Given the description of an element on the screen output the (x, y) to click on. 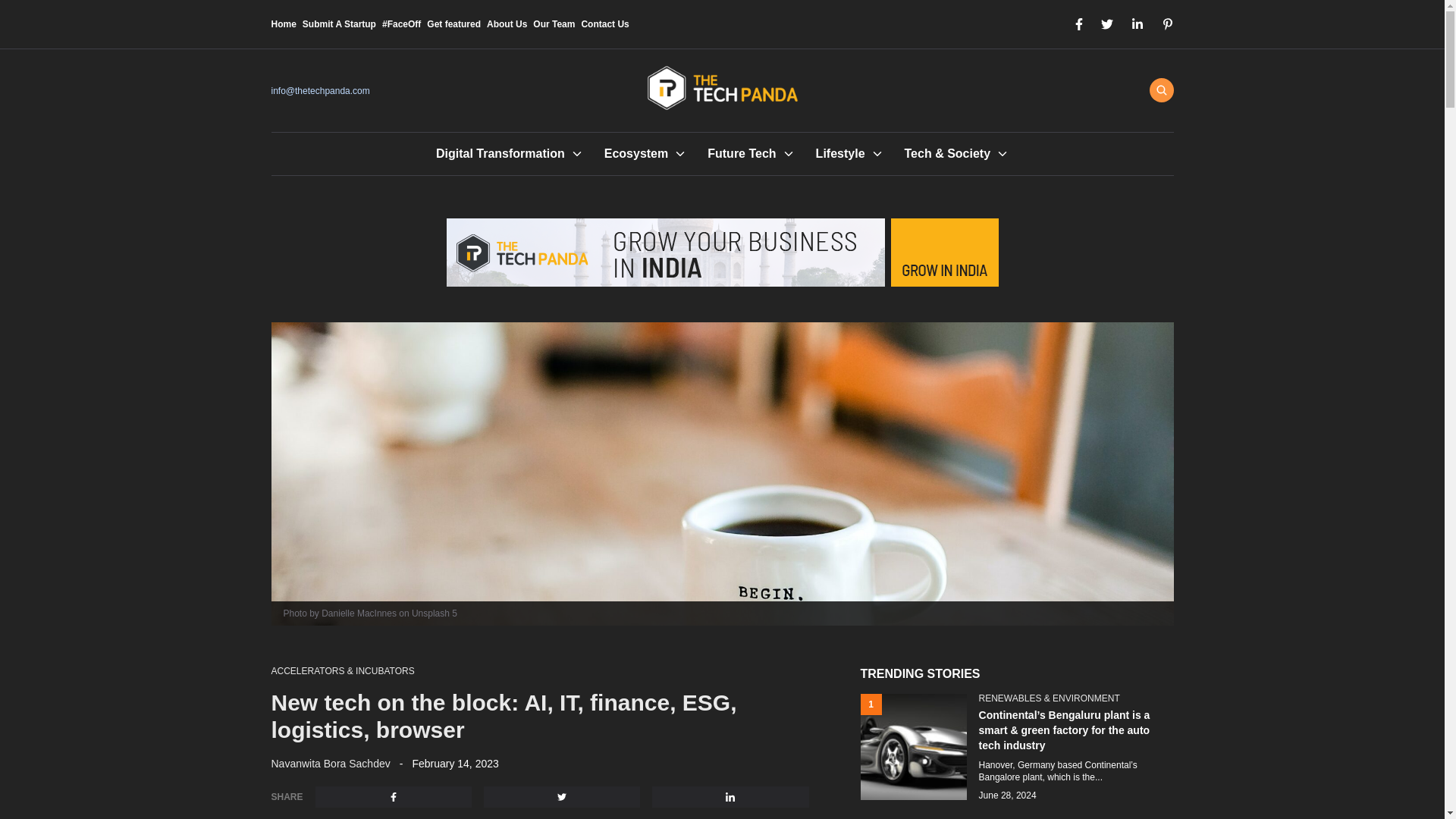
Lifestyle (839, 153)
Home (283, 24)
Future Tech (741, 153)
About Us (506, 24)
Digital Transformation (499, 153)
Ecosystem (636, 153)
Submit A Startup (338, 24)
Our Team (553, 24)
Get featured (453, 24)
Contact Us (604, 24)
